Given the description of an element on the screen output the (x, y) to click on. 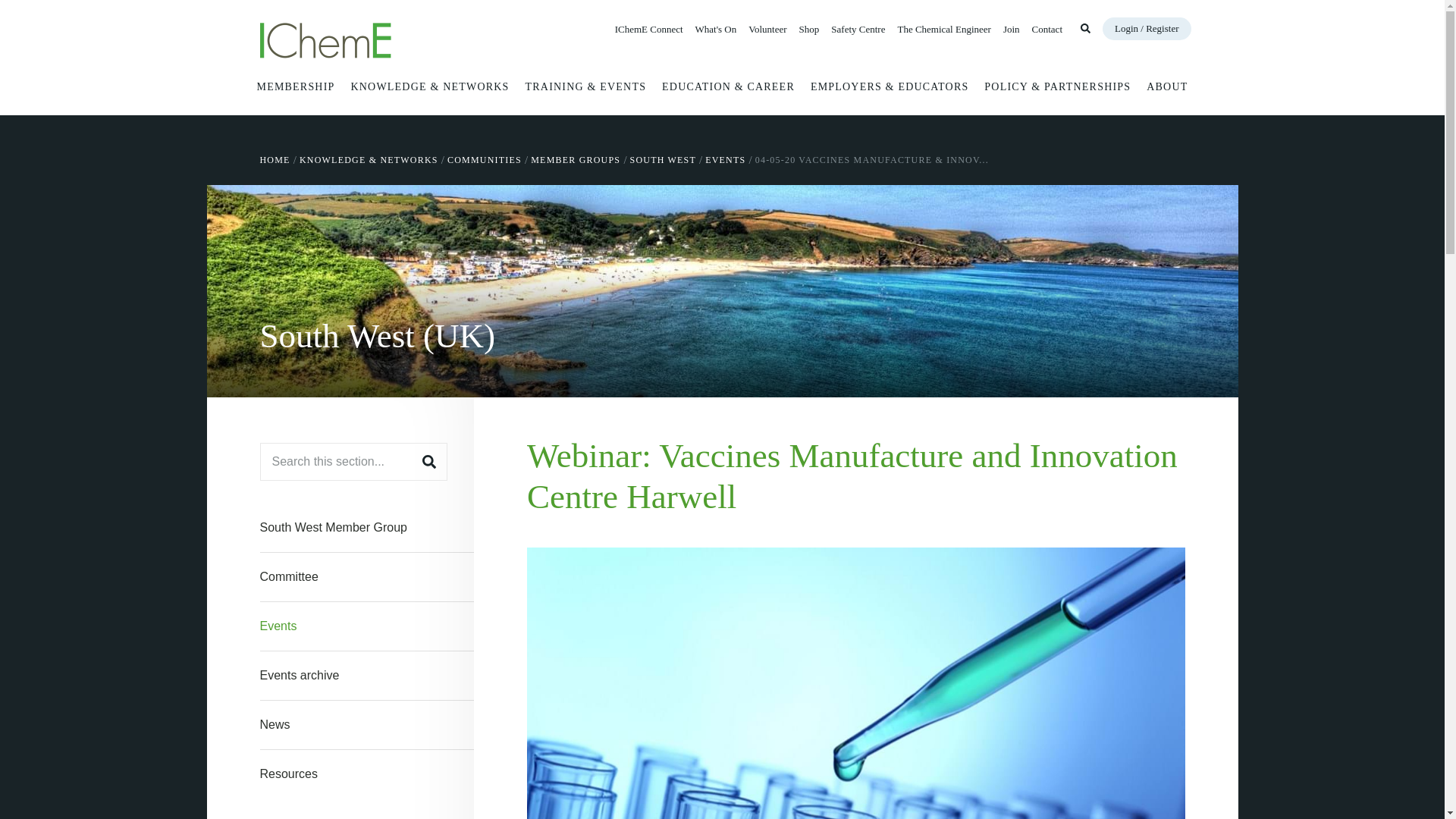
Safety Centre (858, 29)
What's On (715, 29)
IChemE Connect (648, 29)
Volunteer (767, 29)
The Chemical Engineer (943, 29)
Login (1146, 28)
